Given the description of an element on the screen output the (x, y) to click on. 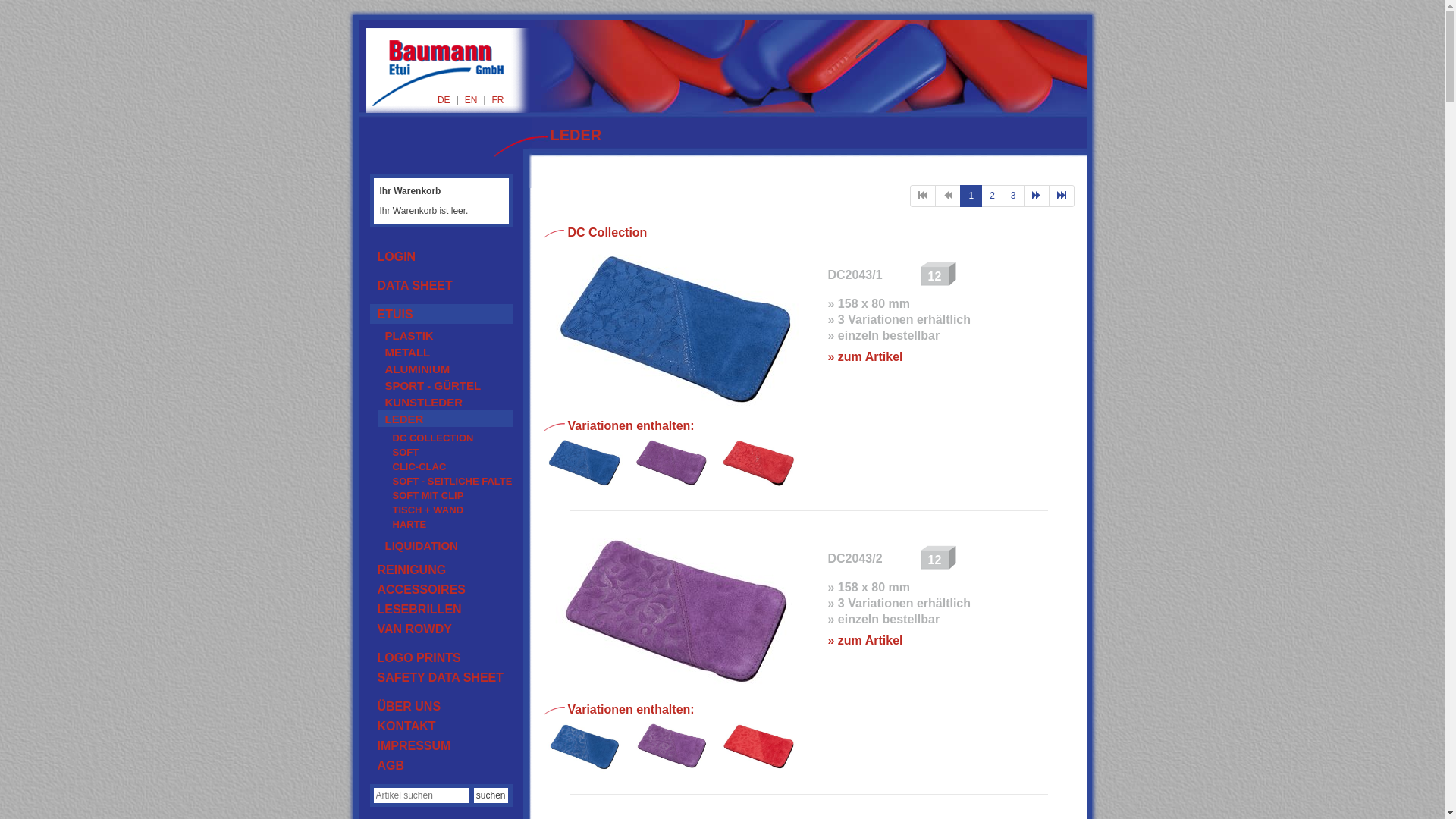
ACCESSOIRES Element type: text (441, 589)
softcase Leather L ORNAMENTO blue purple red Element type: hover (675, 614)
SOFT MIT CLIP Element type: text (448, 494)
PLASTIK Element type: text (444, 334)
KUNSTLEDER Element type: text (444, 401)
TISCH + WAND Element type: text (448, 509)
LEDER Element type: text (444, 418)
CLIC-CLAC Element type: text (448, 465)
DE Element type: text (443, 99)
IMPRESSUM Element type: text (441, 745)
LOGIN Element type: text (441, 256)
softcase Leather L LOLA blue purple red Element type: hover (675, 330)
VAN ROWDY Element type: text (441, 628)
softcase Leather L LOLA lila Element type: hover (671, 463)
DC2043/2 Element type: text (855, 558)
LESEBRILLEN Element type: text (441, 608)
FR Element type: text (497, 99)
EN Element type: text (470, 99)
SOFT Element type: text (448, 451)
ETUIS Element type: text (441, 313)
DC COLLECTION Element type: text (448, 436)
DC2043/1 Element type: text (855, 274)
SAFETY DATA SHEET Element type: text (441, 677)
suchen Element type: text (490, 795)
KONTAKT Element type: text (441, 725)
softcase Leather L Ornamento Element type: hover (583, 746)
softcase Leather L ORNAMENTO purple Element type: hover (671, 746)
DATA SHEET Element type: text (441, 284)
LOGO PRINTS Element type: text (441, 657)
HARTE Element type: text (448, 523)
METALL Element type: text (444, 351)
1 Element type: text (971, 196)
2 Element type: text (992, 196)
REINIGUNG Element type: text (441, 569)
softcase Leather L LOLA red Element type: hover (758, 463)
LIQUIDATION Element type: text (444, 544)
ALUMINIUM Element type: text (444, 368)
softcase Leather L LOLA blue Element type: hover (583, 463)
3 Element type: text (1013, 196)
SOFT - SEITLICHE FALTE Element type: text (448, 480)
softcase Leather L ORNAMENTO red Element type: hover (758, 746)
AGB Element type: text (441, 765)
